Given the description of an element on the screen output the (x, y) to click on. 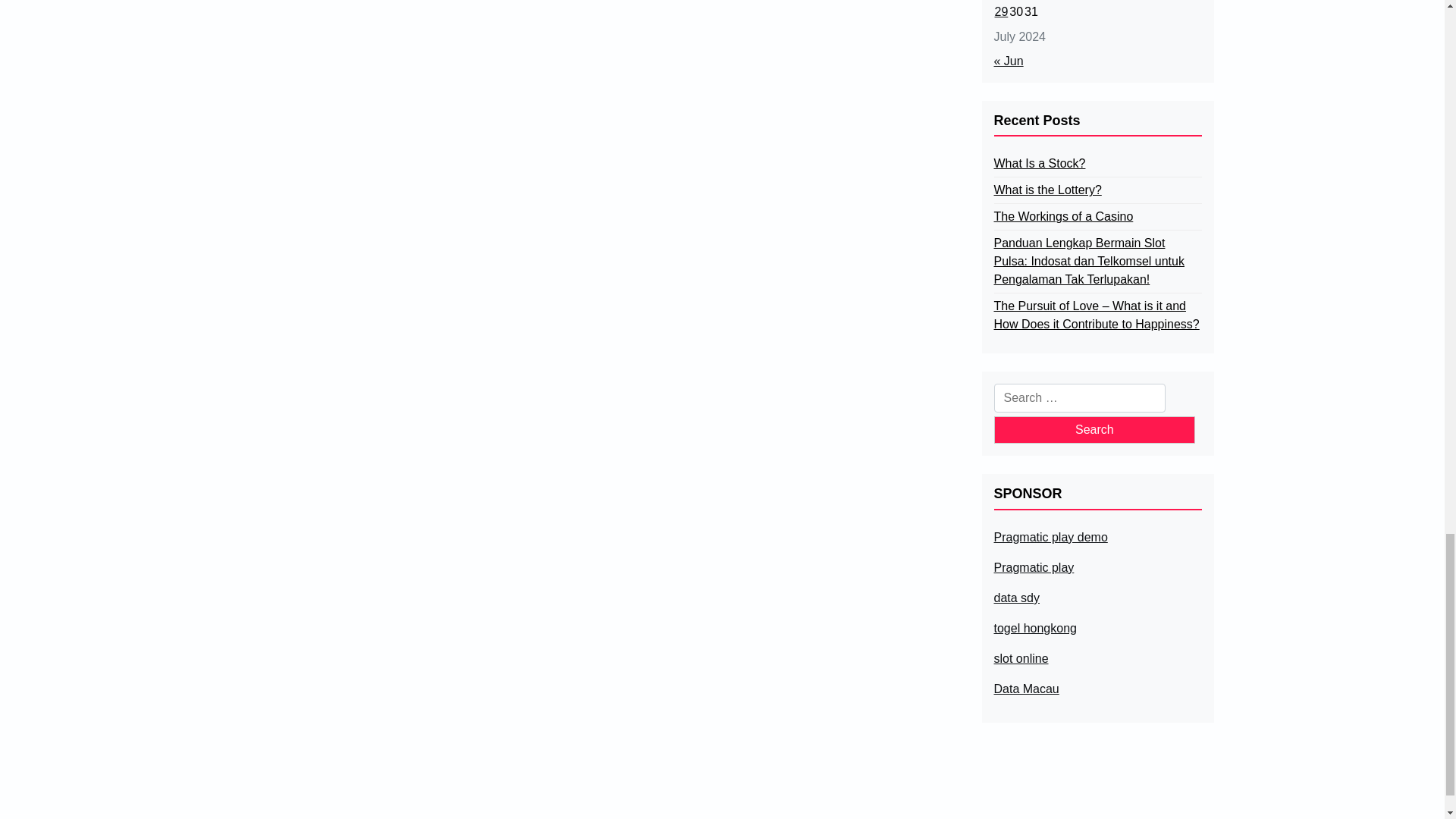
Search (1093, 429)
Search (1093, 429)
